Given the description of an element on the screen output the (x, y) to click on. 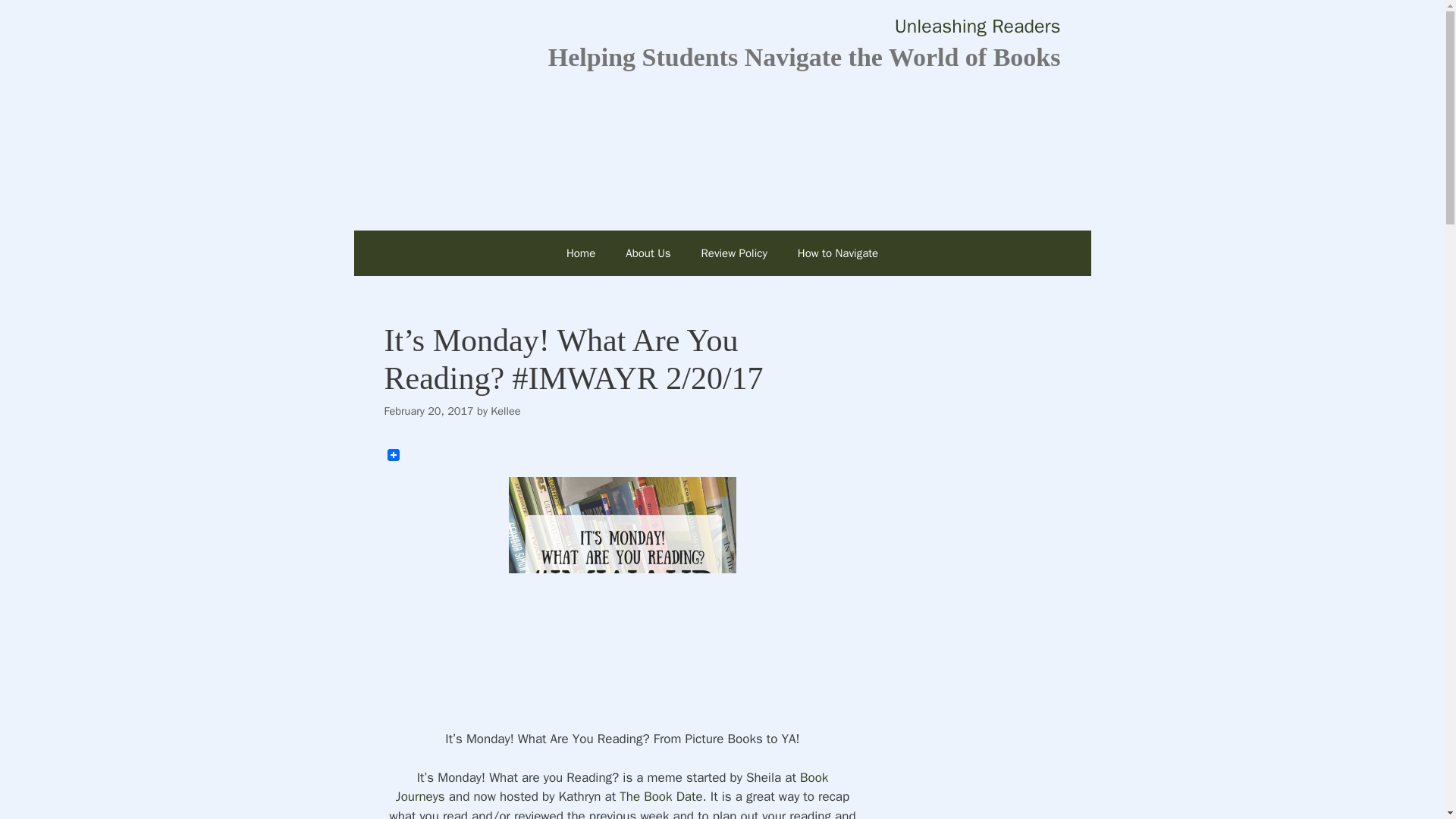
About Us (647, 253)
Kellee (504, 410)
Book Journeys (612, 787)
View all posts by Kellee (504, 410)
The Book Date (660, 796)
How to Navigate (838, 253)
Unleashing Readers (978, 25)
Review Policy (734, 253)
Home (580, 253)
